Given the description of an element on the screen output the (x, y) to click on. 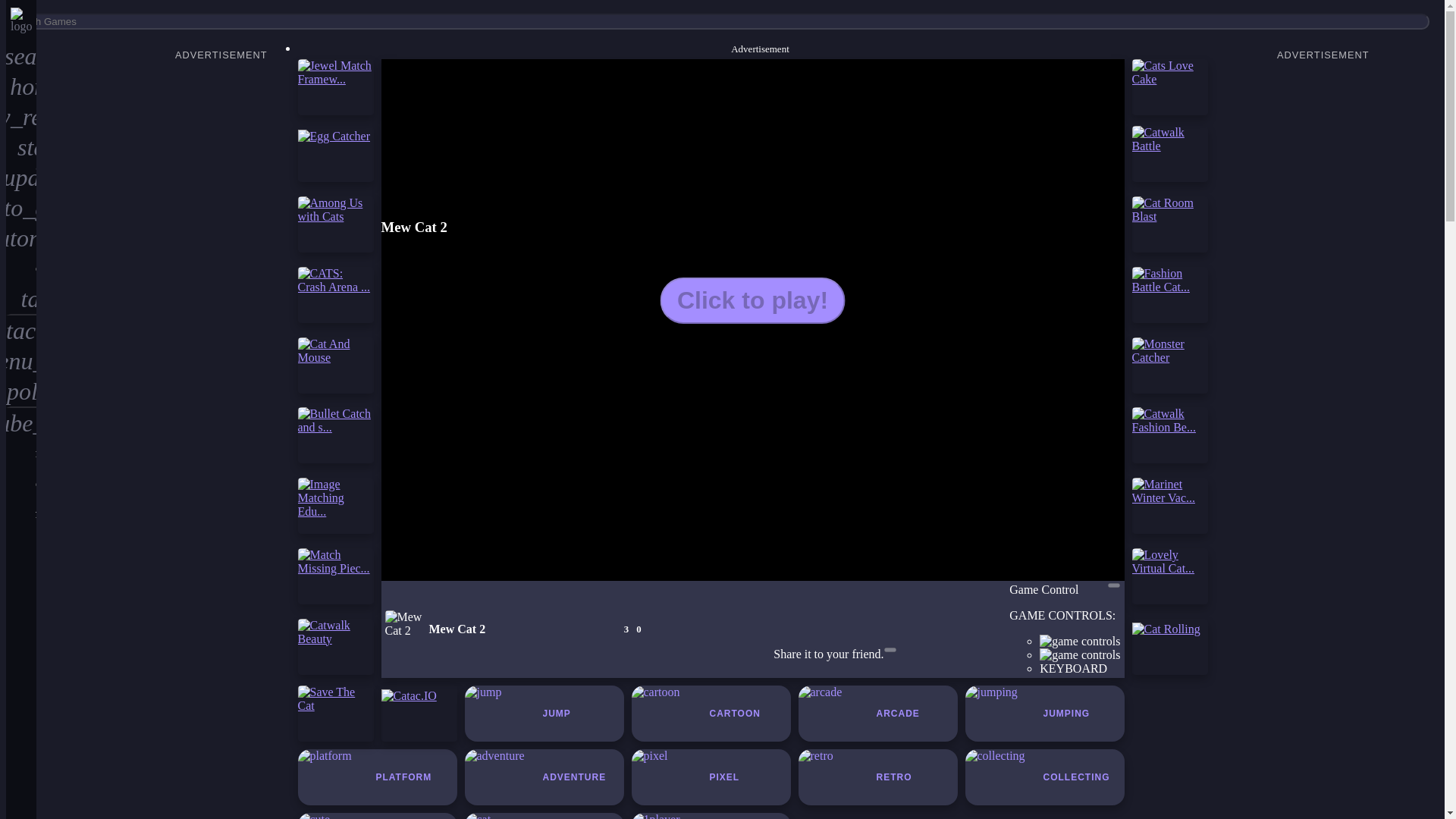
tag (20, 299)
reddit (20, 453)
update (20, 177)
facebook (20, 513)
home (20, 86)
policy (20, 391)
search (20, 55)
autorenew (20, 237)
star (20, 146)
our blog (20, 268)
discord (20, 483)
Click to play! (752, 300)
